Given the description of an element on the screen output the (x, y) to click on. 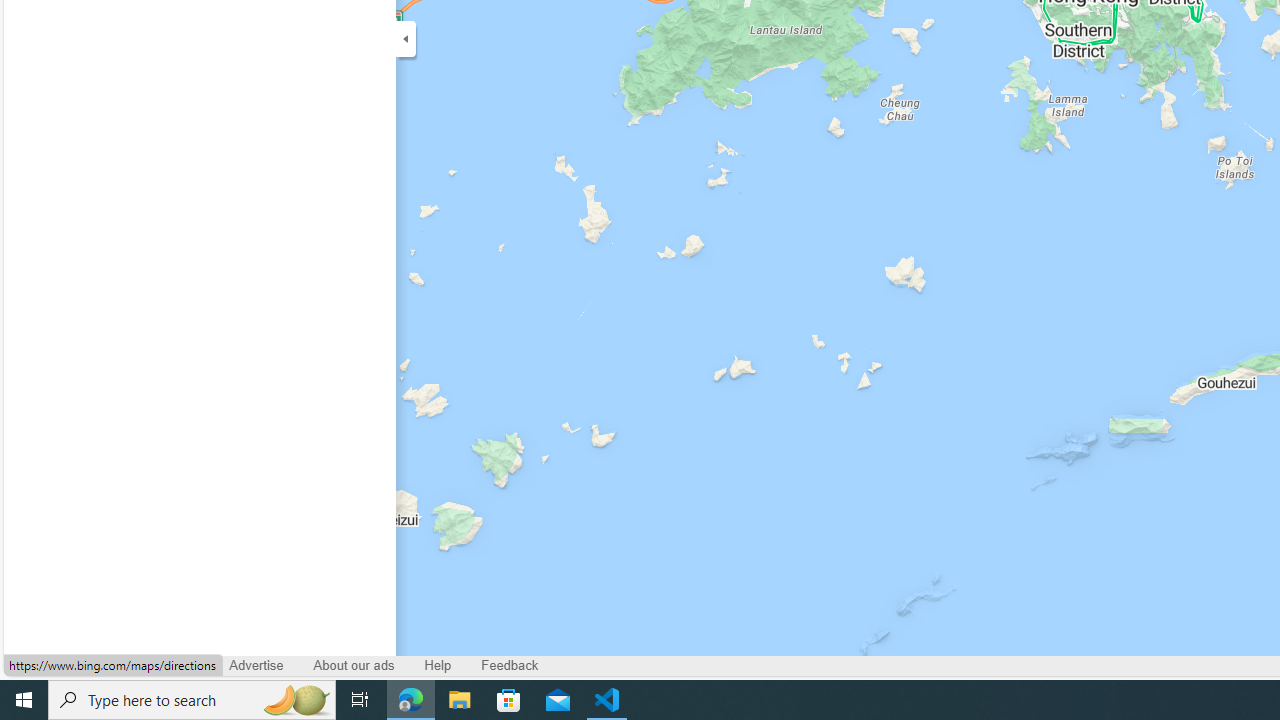
Legal (183, 665)
Legal (182, 665)
Help (438, 665)
About our ads (353, 665)
Expand/Collapse Cards (405, 38)
Help (437, 665)
About our ads (354, 665)
Privacy and Cookies (78, 665)
Privacy and Cookies (78, 665)
